Given the description of an element on the screen output the (x, y) to click on. 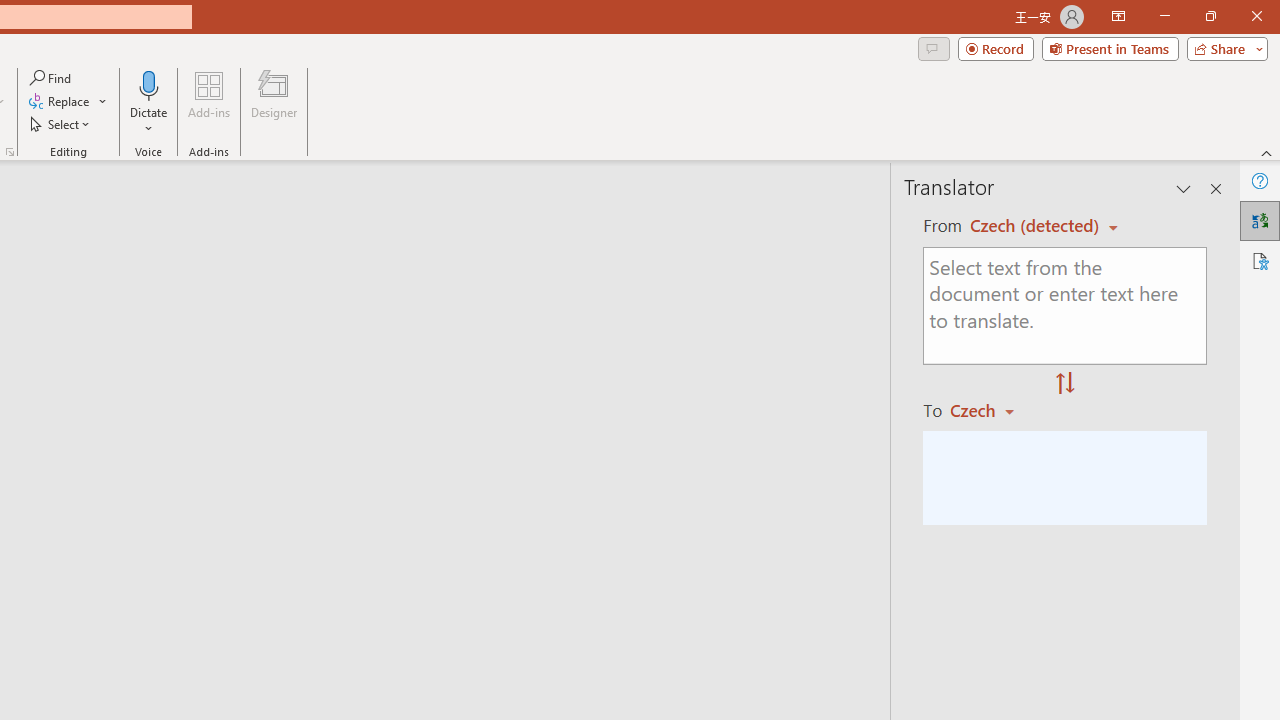
Copilot (Ctrl+Shift+.) (1241, 82)
